Given the description of an element on the screen output the (x, y) to click on. 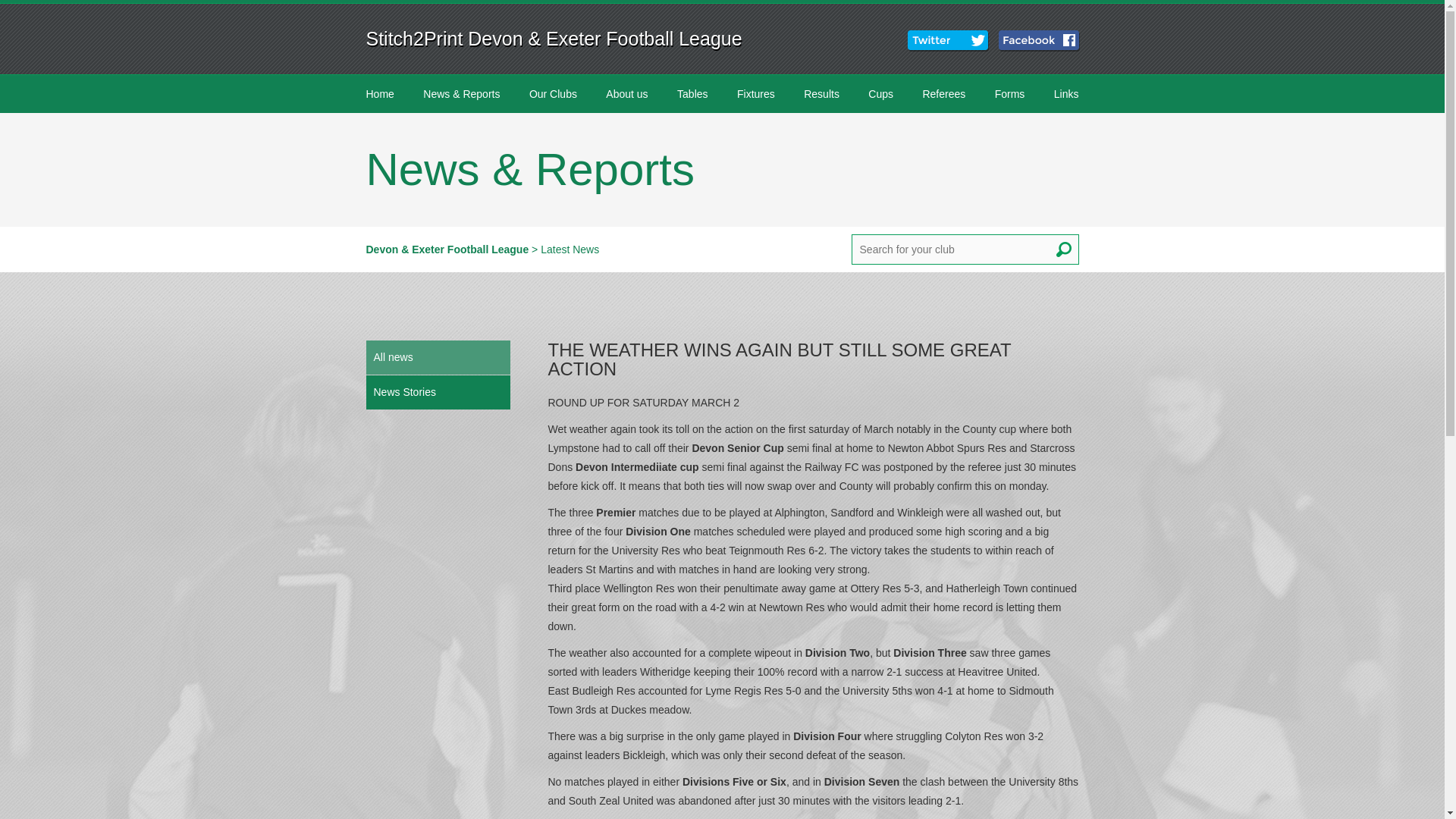
Facebook (1039, 41)
Our Clubs (553, 94)
Results (821, 94)
Home (379, 94)
About us (626, 94)
Tables (691, 94)
Search (1063, 249)
Fixtures (756, 94)
Twitter (949, 41)
